Given the description of an element on the screen output the (x, y) to click on. 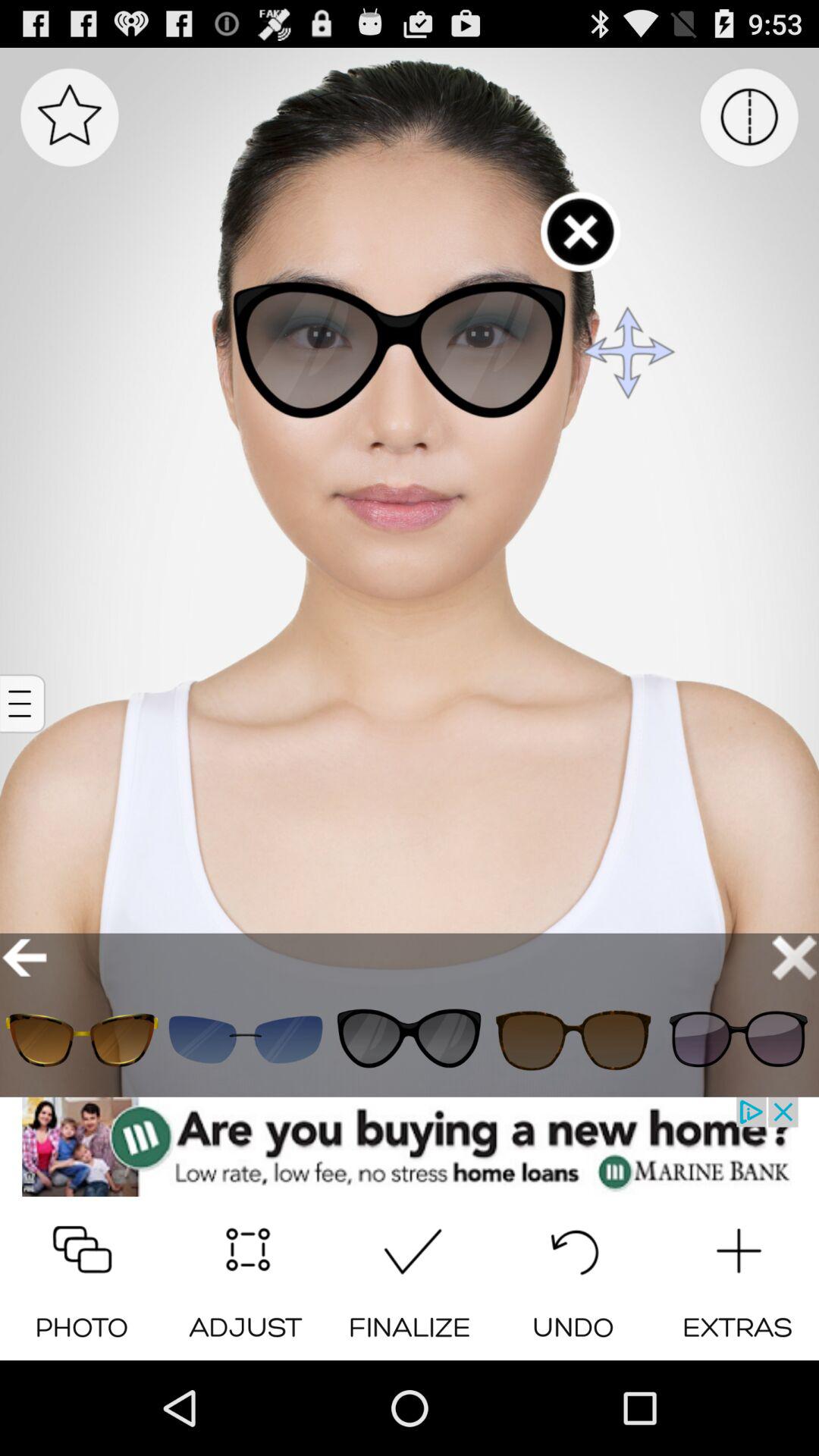
choose a glass button (573, 1039)
